Given the description of an element on the screen output the (x, y) to click on. 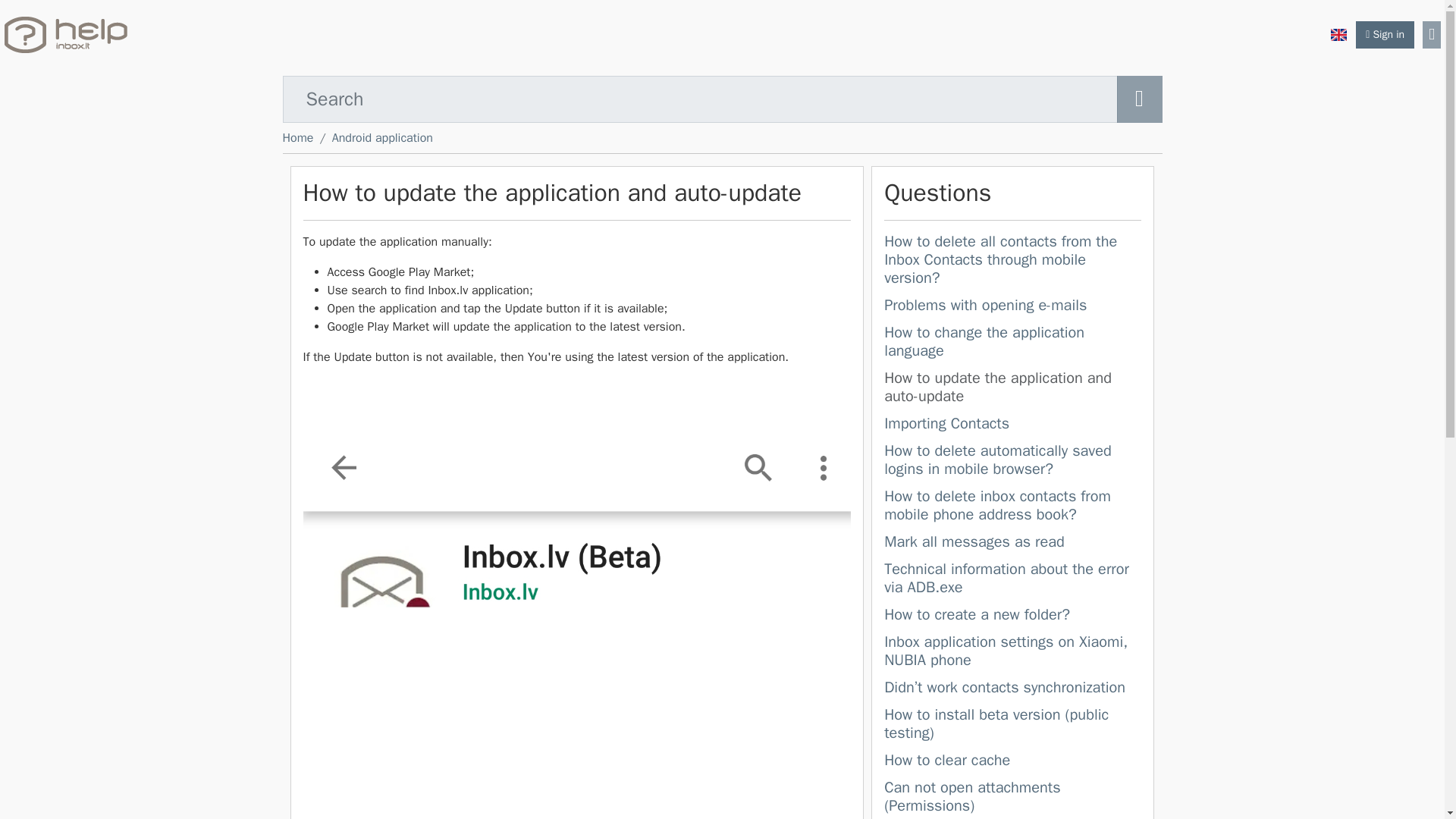
How to delete inbox contacts from mobile phone address book? (996, 505)
How to delete automatically saved logins in mobile browser? (1012, 461)
Mark all messages as read (1012, 543)
Inbox application settings on Xiaomi, NUBIA phone (1004, 650)
Importing Contacts (946, 423)
How to delete inbox contacts from mobile phone address book? (1012, 507)
Problems with opening e-mails (984, 304)
How to clear cache (946, 760)
Android application (381, 137)
Home (297, 137)
How to update the application and auto-update (1012, 388)
Technical information about the error via ADB.exe (1006, 578)
How to change the application language (1012, 343)
